Given the description of an element on the screen output the (x, y) to click on. 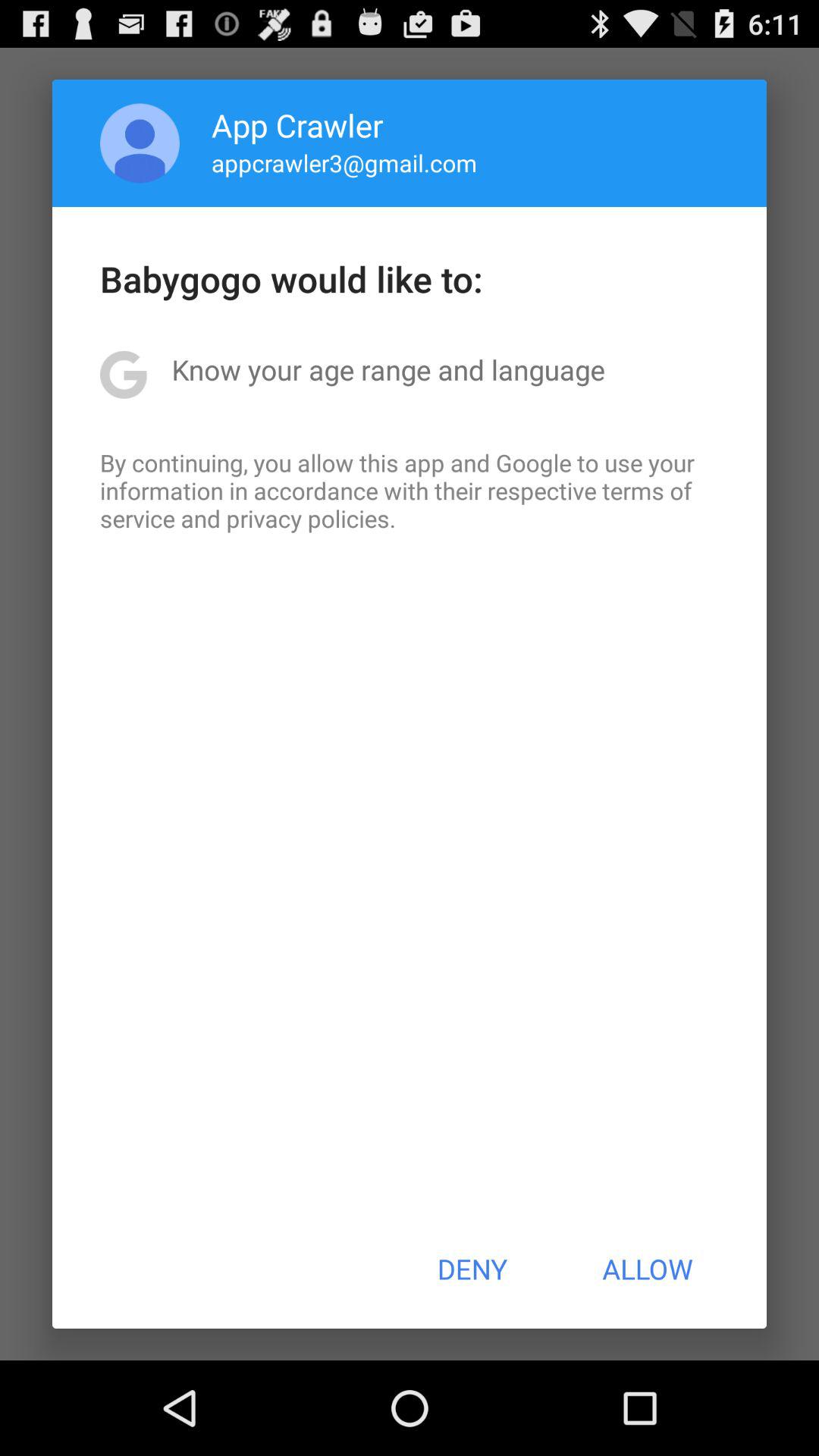
open the deny at the bottom (471, 1268)
